Given the description of an element on the screen output the (x, y) to click on. 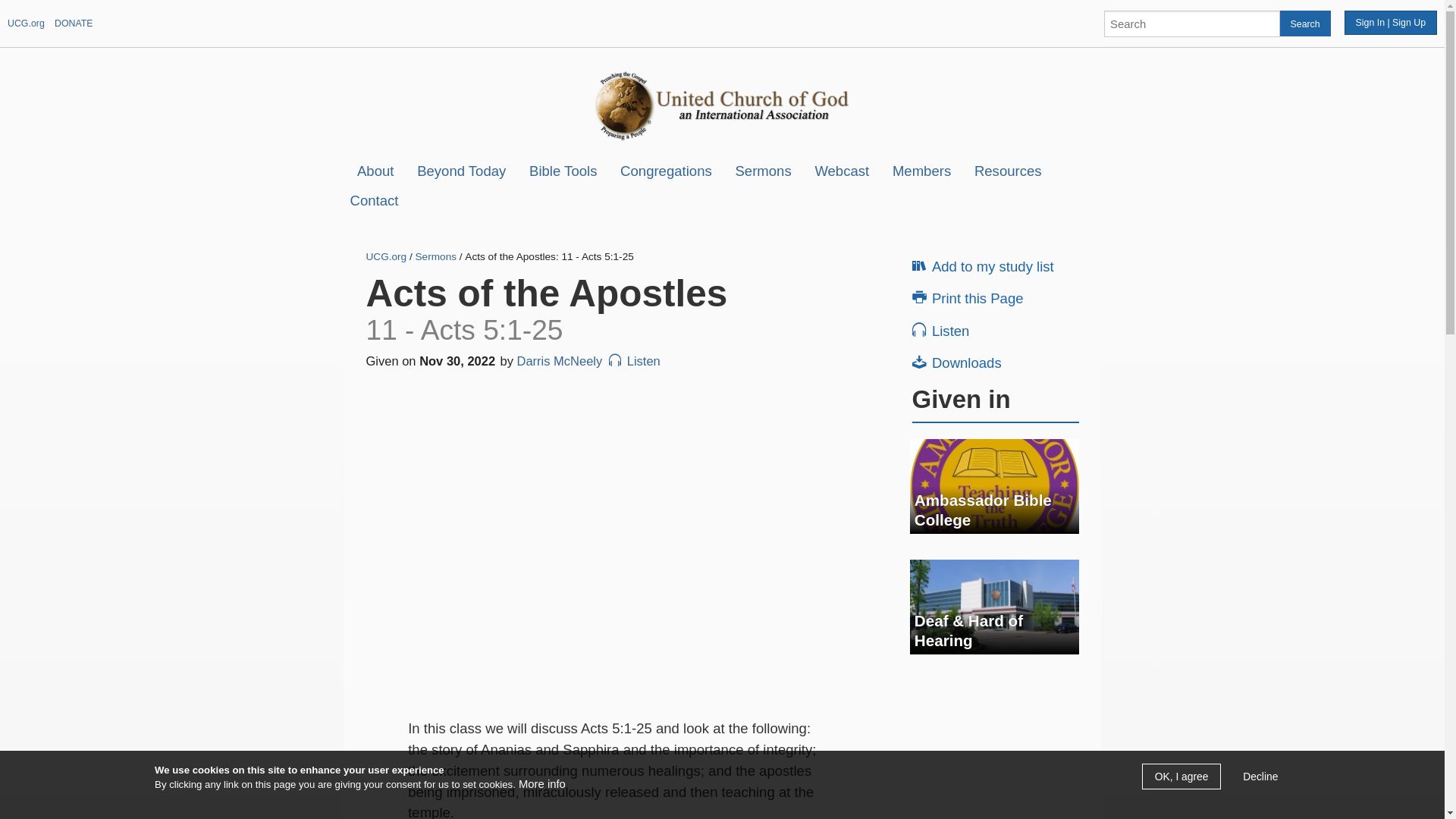
About (375, 170)
Bible Tools (563, 170)
Enter the terms you wish to search for. (1191, 23)
Search (1304, 23)
UCG.org (26, 23)
Beyond Today (461, 170)
DONATE (74, 23)
Decline (1260, 776)
Skip to main content (682, 1)
OK, I agree (1181, 776)
More info (542, 784)
Print this Page (998, 297)
View user profile. (559, 360)
Search (1304, 23)
